Given the description of an element on the screen output the (x, y) to click on. 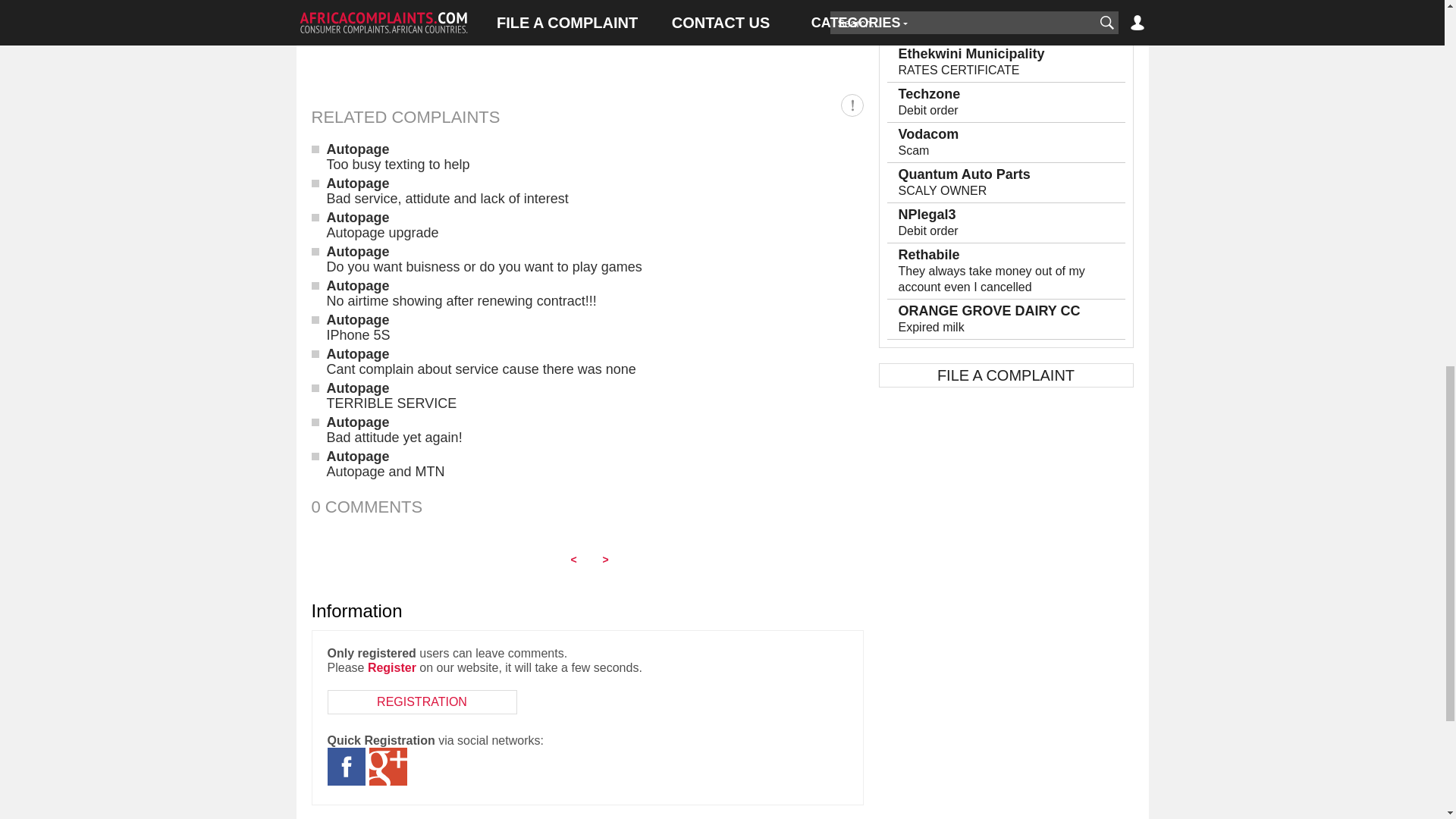
Login with Facebook (346, 766)
Advertisement (587, 37)
Login with Google (387, 766)
